Given the description of an element on the screen output the (x, y) to click on. 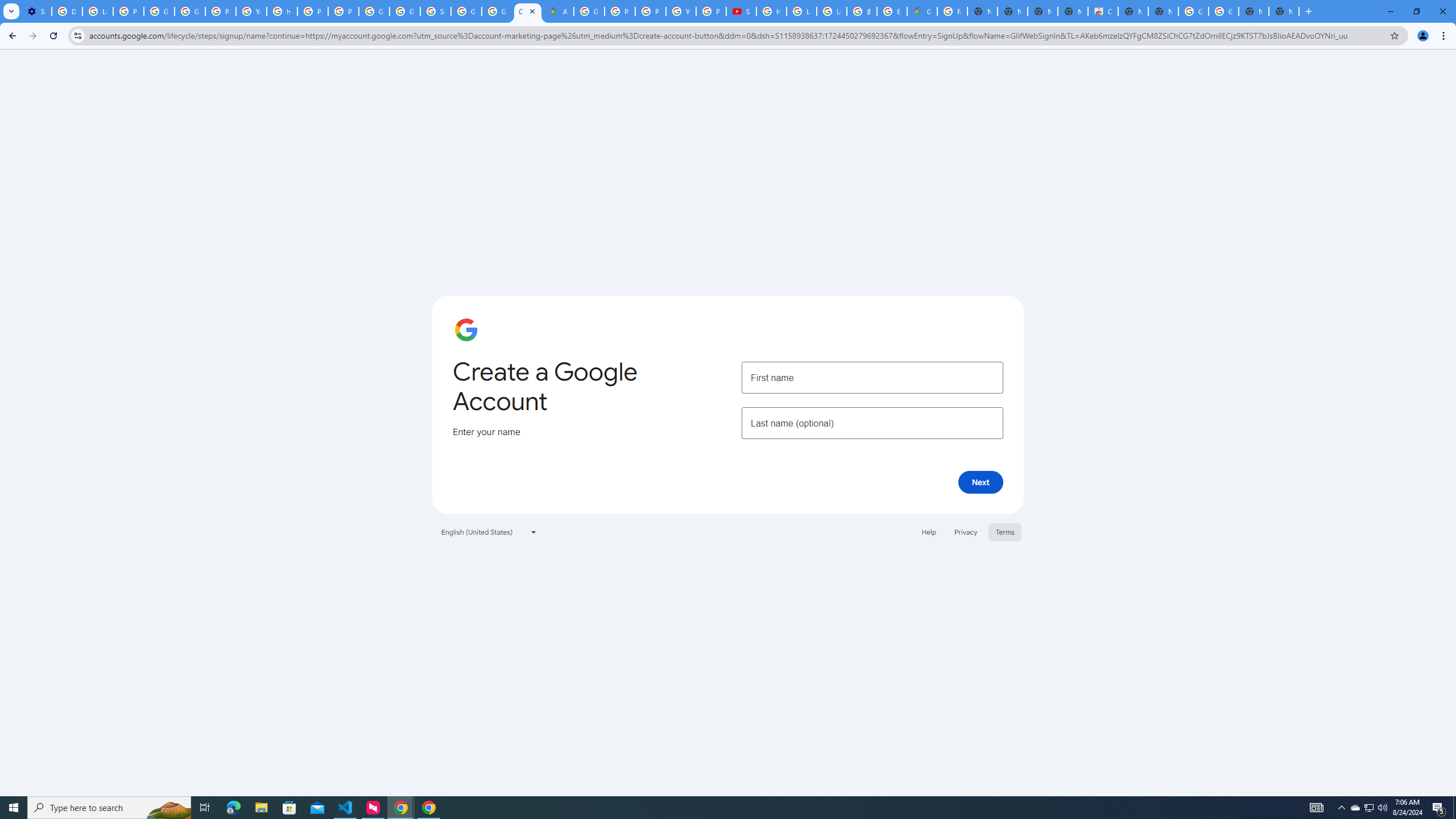
Create your Google Account (527, 11)
New Tab (1283, 11)
Google Images (1193, 11)
Last name (optional) (871, 422)
Subscriptions - YouTube (740, 11)
Settings - Performance (36, 11)
Privacy Help Center - Policies Help (650, 11)
